Given the description of an element on the screen output the (x, y) to click on. 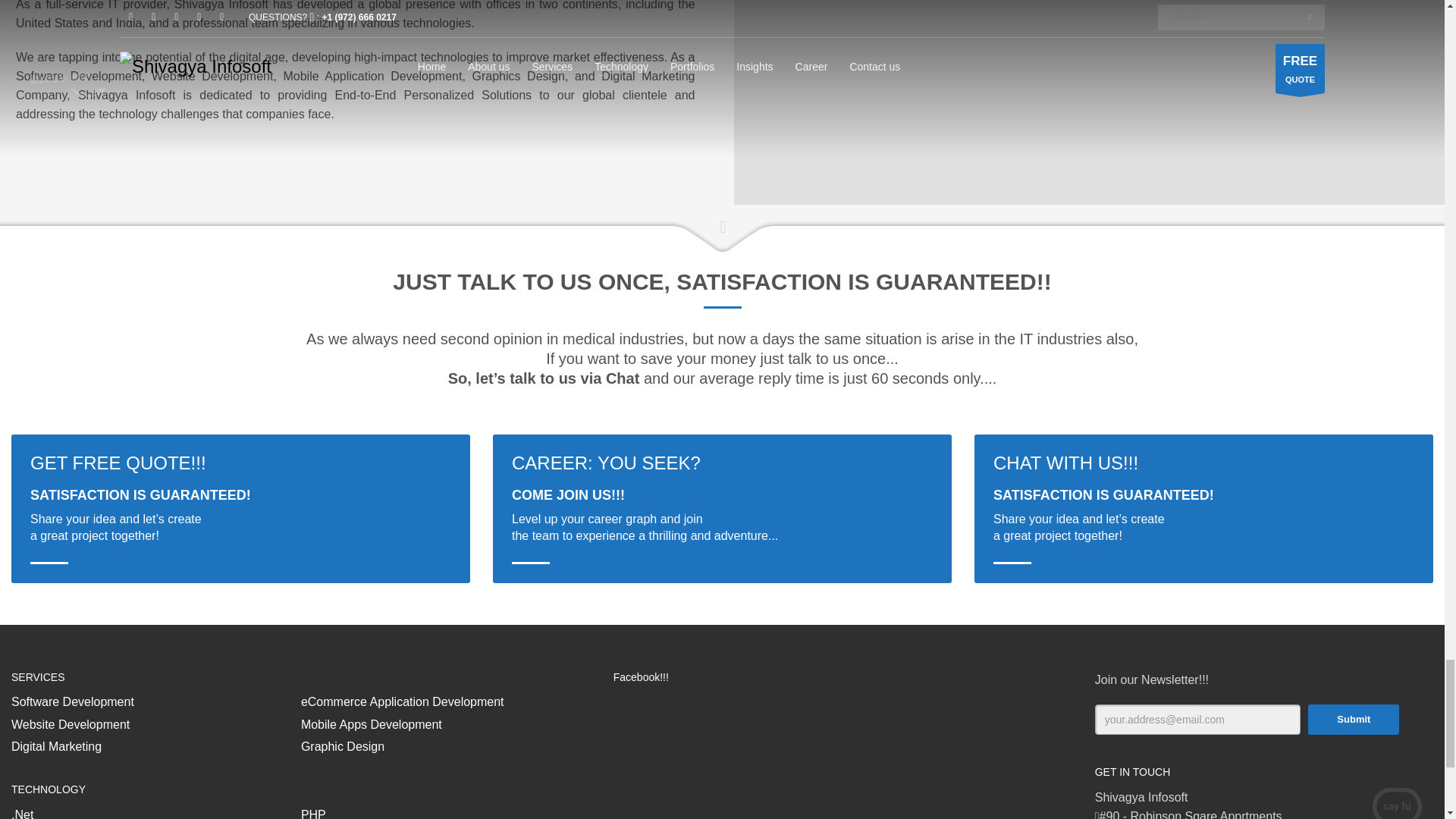
Submit (1353, 719)
